Given the description of an element on the screen output the (x, y) to click on. 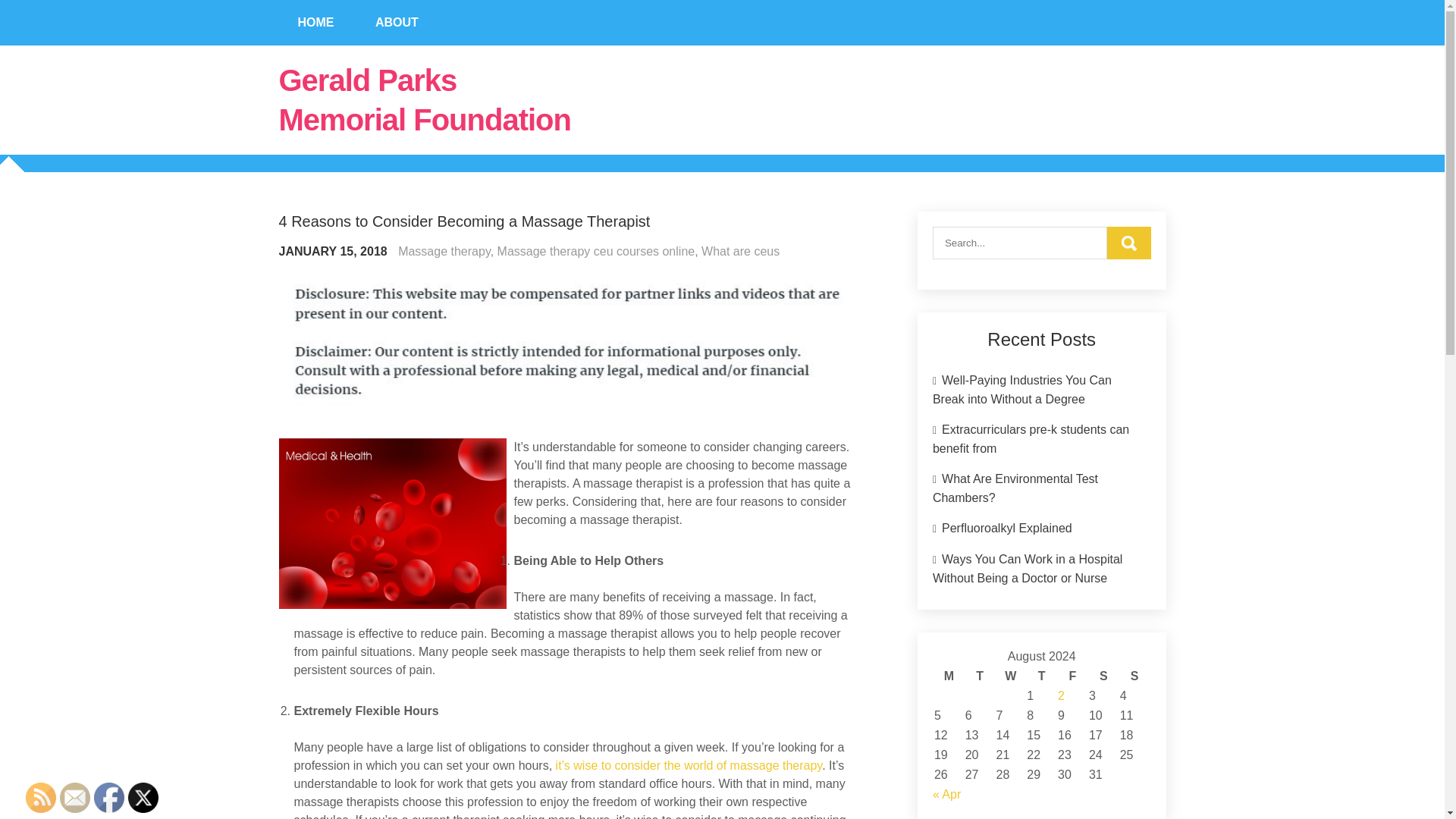
Well-Paying Industries You Can Break into Without a Degree (1022, 389)
more (689, 765)
Follow by Email (74, 797)
Sunday (1134, 676)
Massage therapy (443, 250)
HOME (316, 22)
Search (1128, 242)
Massage therapy ceu courses online (596, 250)
Friday (1072, 676)
